Given the description of an element on the screen output the (x, y) to click on. 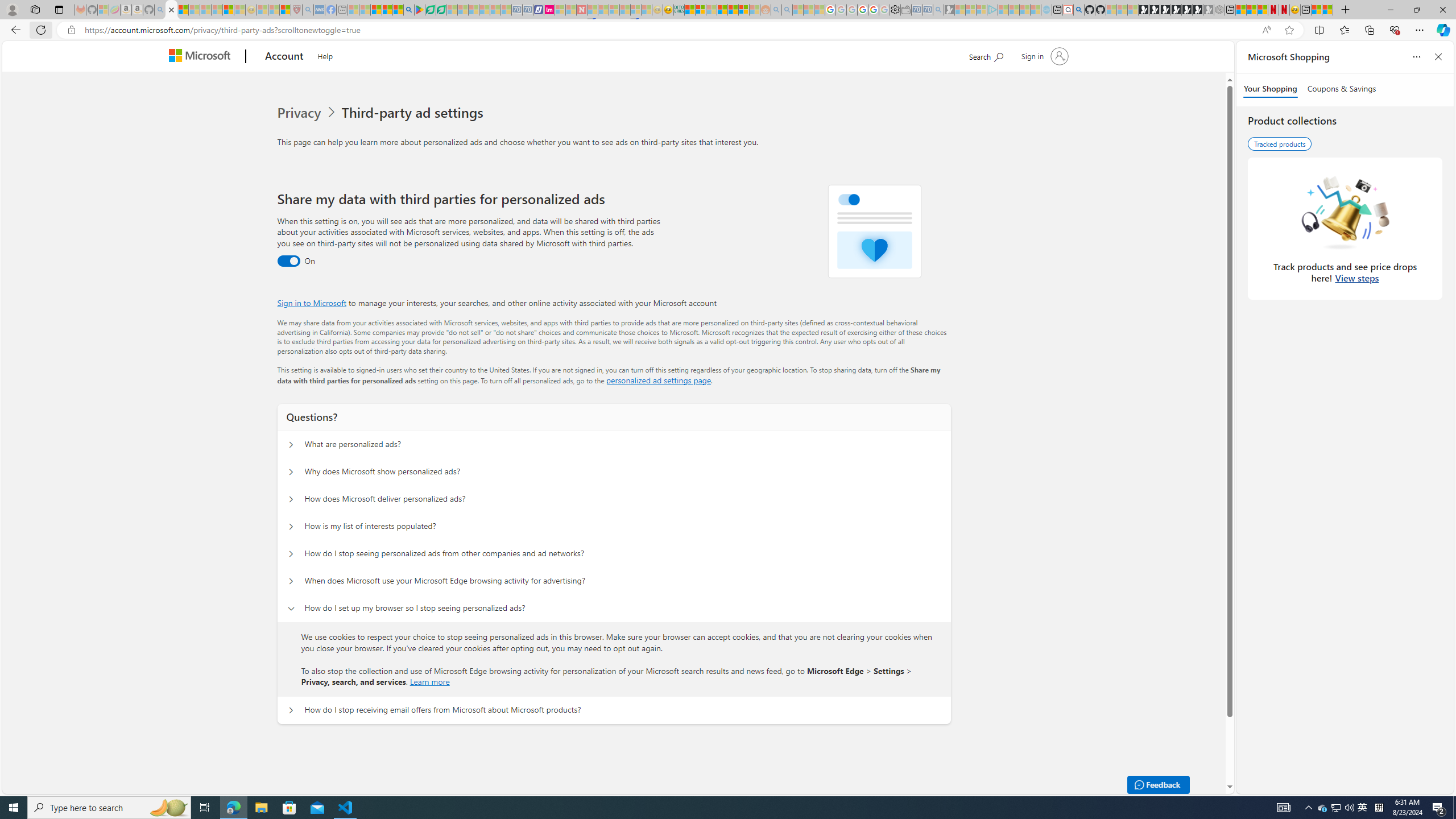
Local - MSN (285, 9)
